Given the description of an element on the screen output the (x, y) to click on. 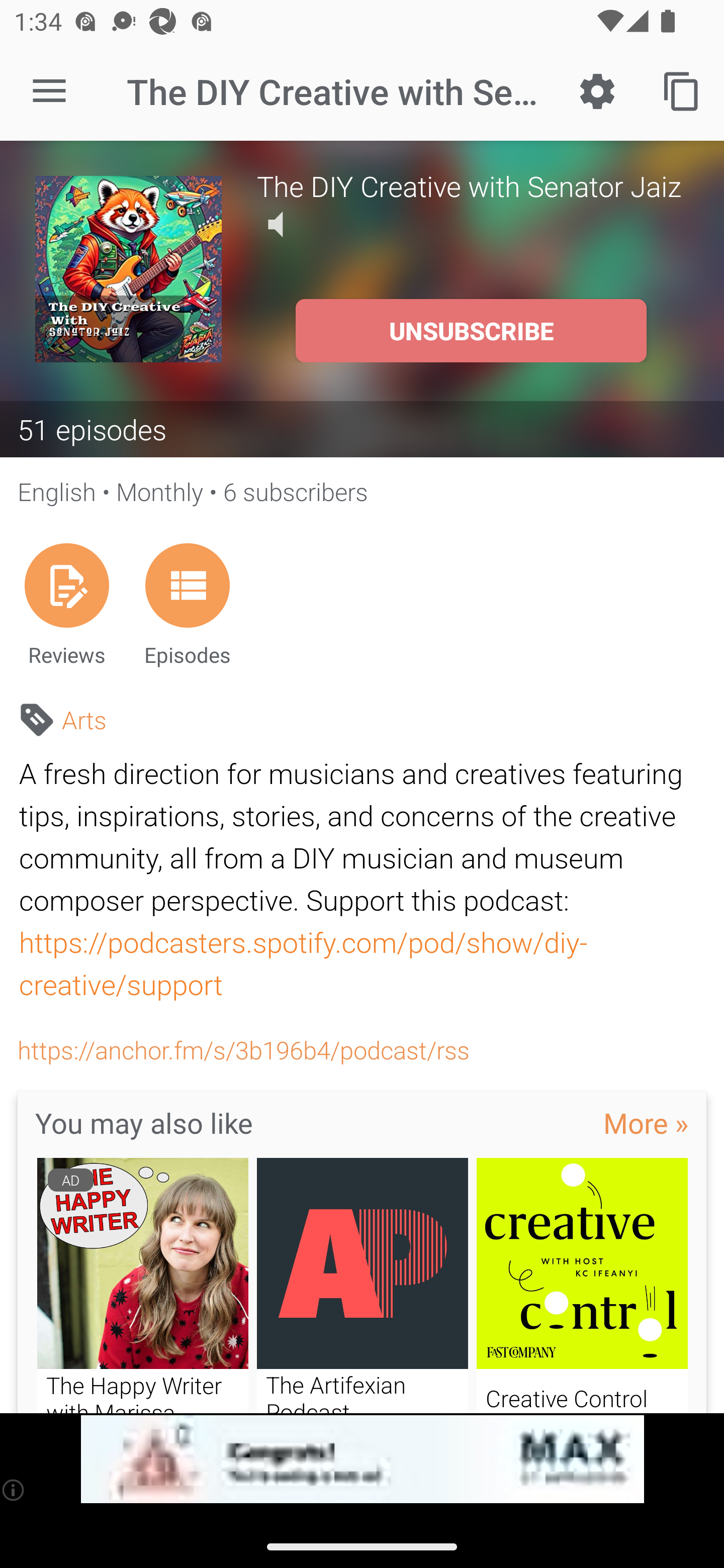
Open navigation sidebar (49, 91)
Settings (597, 90)
Copy feed url to clipboard (681, 90)
The DIY Creative with Senator Jaiz (472, 185)
UNSUBSCRIBE (470, 330)
Reviews (66, 604)
Episodes (187, 604)
More » (645, 1122)
AD The Happy Writer with Marissa Meyer (142, 1284)
The Artifexian Podcast (362, 1284)
Creative Control (581, 1284)
app-monetization (362, 1459)
(i) (14, 1489)
